Given the description of an element on the screen output the (x, y) to click on. 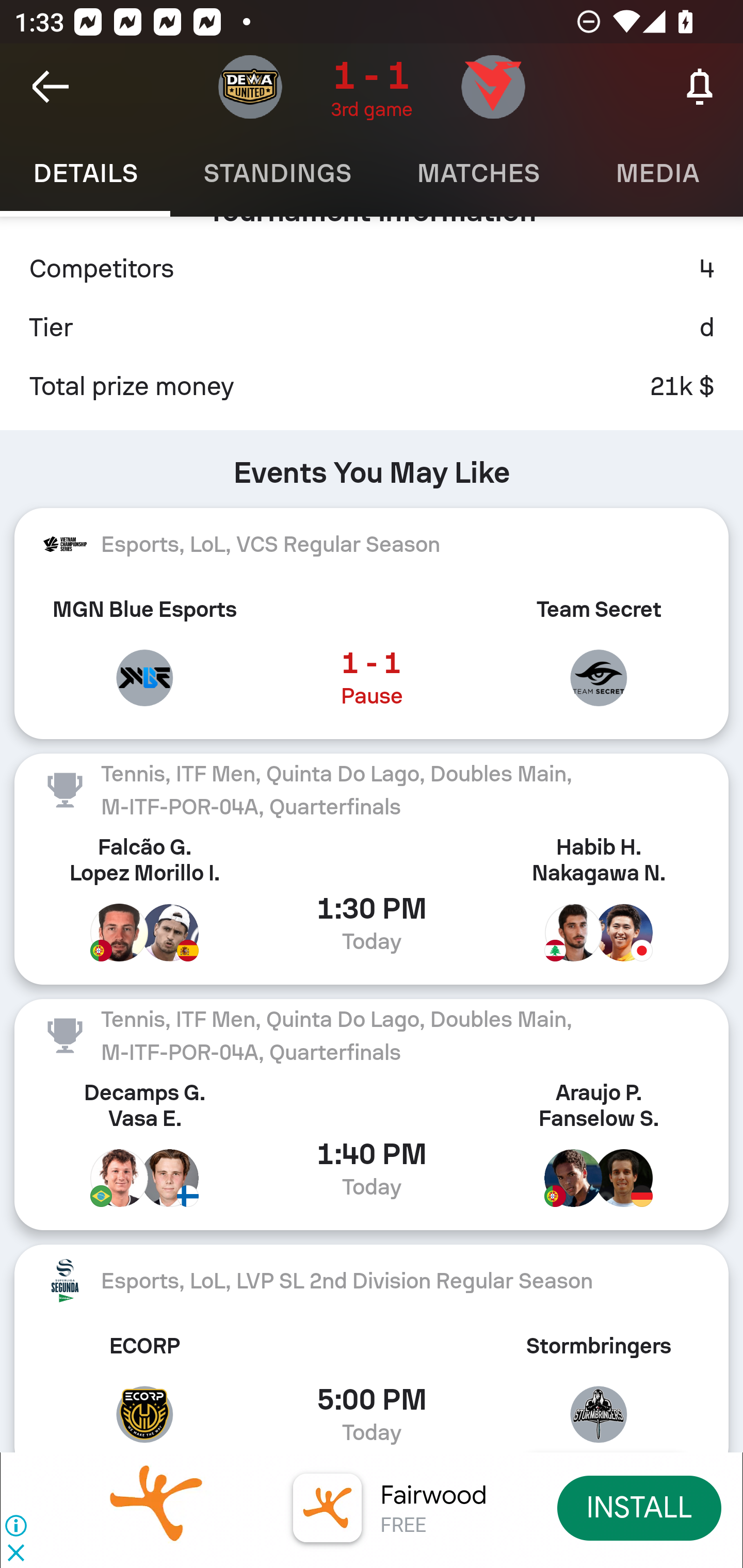
Navigate up (50, 86)
Standings STANDINGS (277, 173)
Matches MATCHES (478, 173)
Media MEDIA (657, 173)
Events You May Like (371, 464)
Esports, LoL, VCS Regular Season (371, 544)
Esports, LoL, LVP SL 2nd Division Regular Season (371, 1280)
INSTALL (639, 1507)
Fairwood (433, 1494)
FREE (403, 1525)
